Given the description of an element on the screen output the (x, y) to click on. 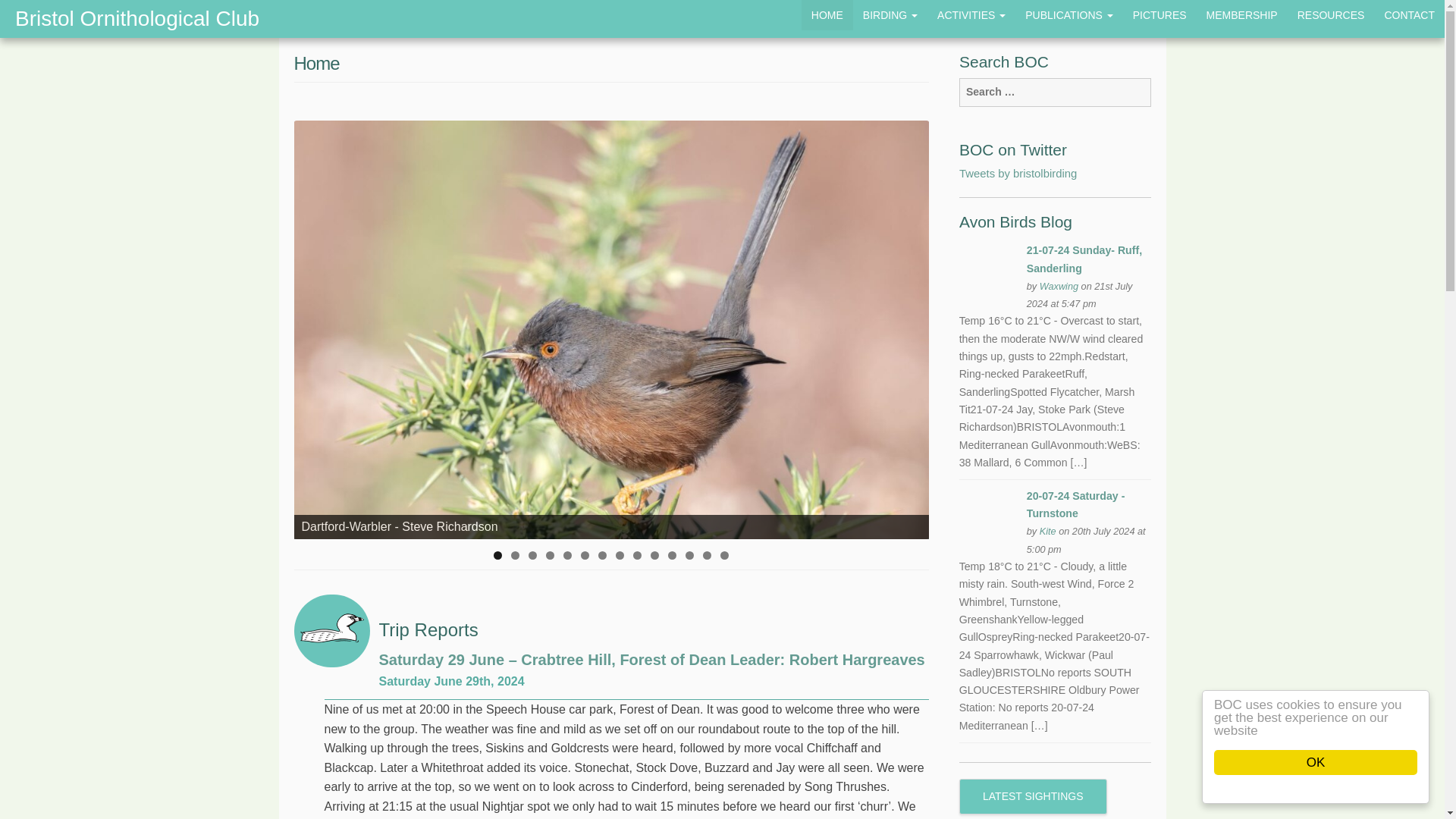
HOME (827, 15)
8 (619, 555)
Bristol Ornithological Club (137, 18)
PICTURES (1159, 15)
MEMBERSHIP (1241, 15)
PUBLICATIONS (1068, 15)
9 (637, 555)
RESOURCES (1330, 15)
1 (497, 555)
5 (567, 555)
7 (602, 555)
3 (532, 555)
OK (1330, 762)
2 (515, 555)
ACTIVITIES (970, 15)
